Given the description of an element on the screen output the (x, y) to click on. 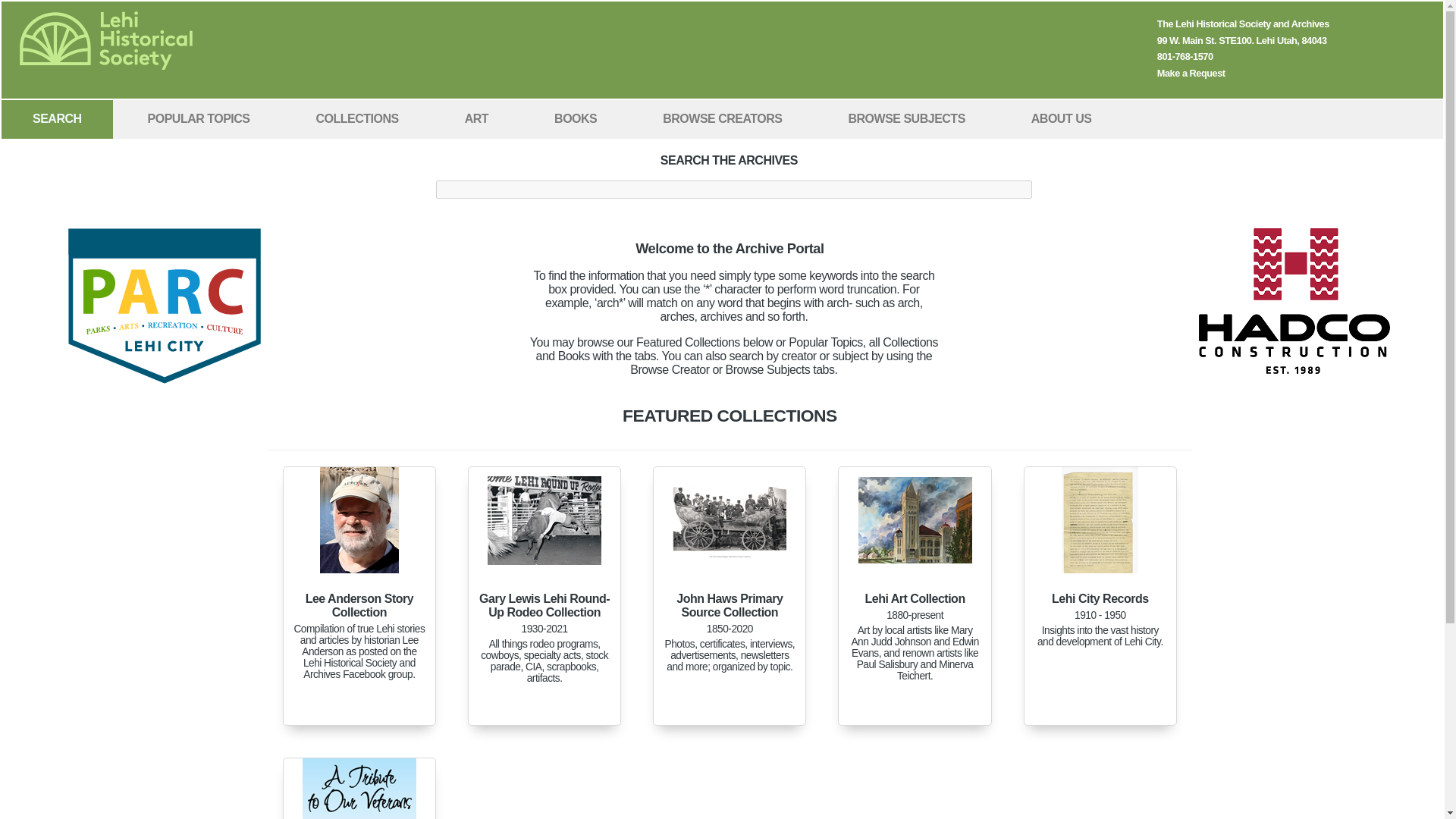
COLLECTIONS (357, 118)
BOOKS (574, 118)
SEARCH (57, 118)
BROWSE CREATORS (721, 118)
POPULAR TOPICS (198, 118)
ABOUT US (1061, 118)
ART (476, 118)
Make a Request (1191, 72)
BROWSE SUBJECTS (905, 118)
